Given the description of an element on the screen output the (x, y) to click on. 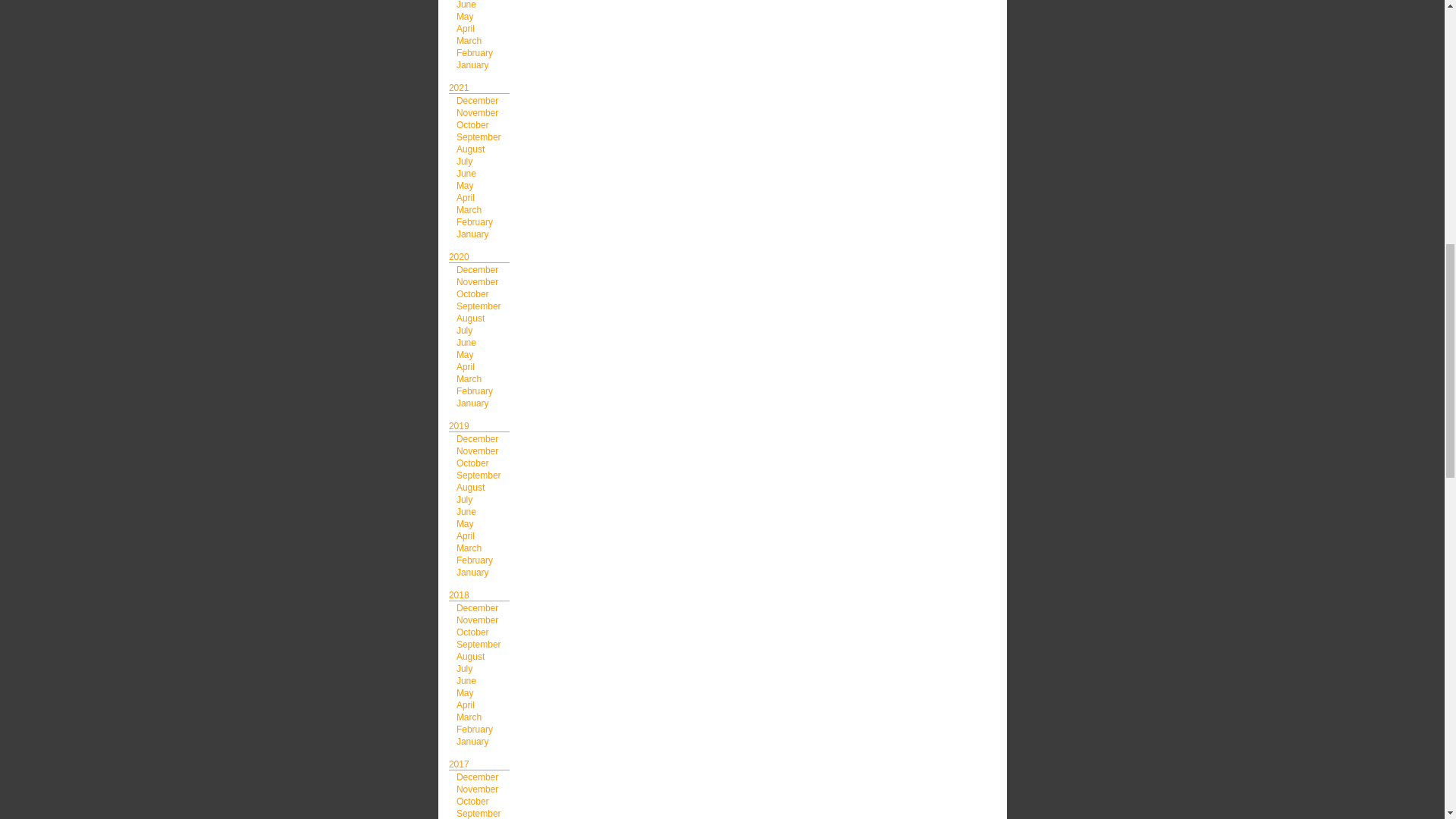
April (465, 28)
March (469, 40)
May (465, 16)
January (473, 64)
June (466, 4)
February (475, 52)
